Given the description of an element on the screen output the (x, y) to click on. 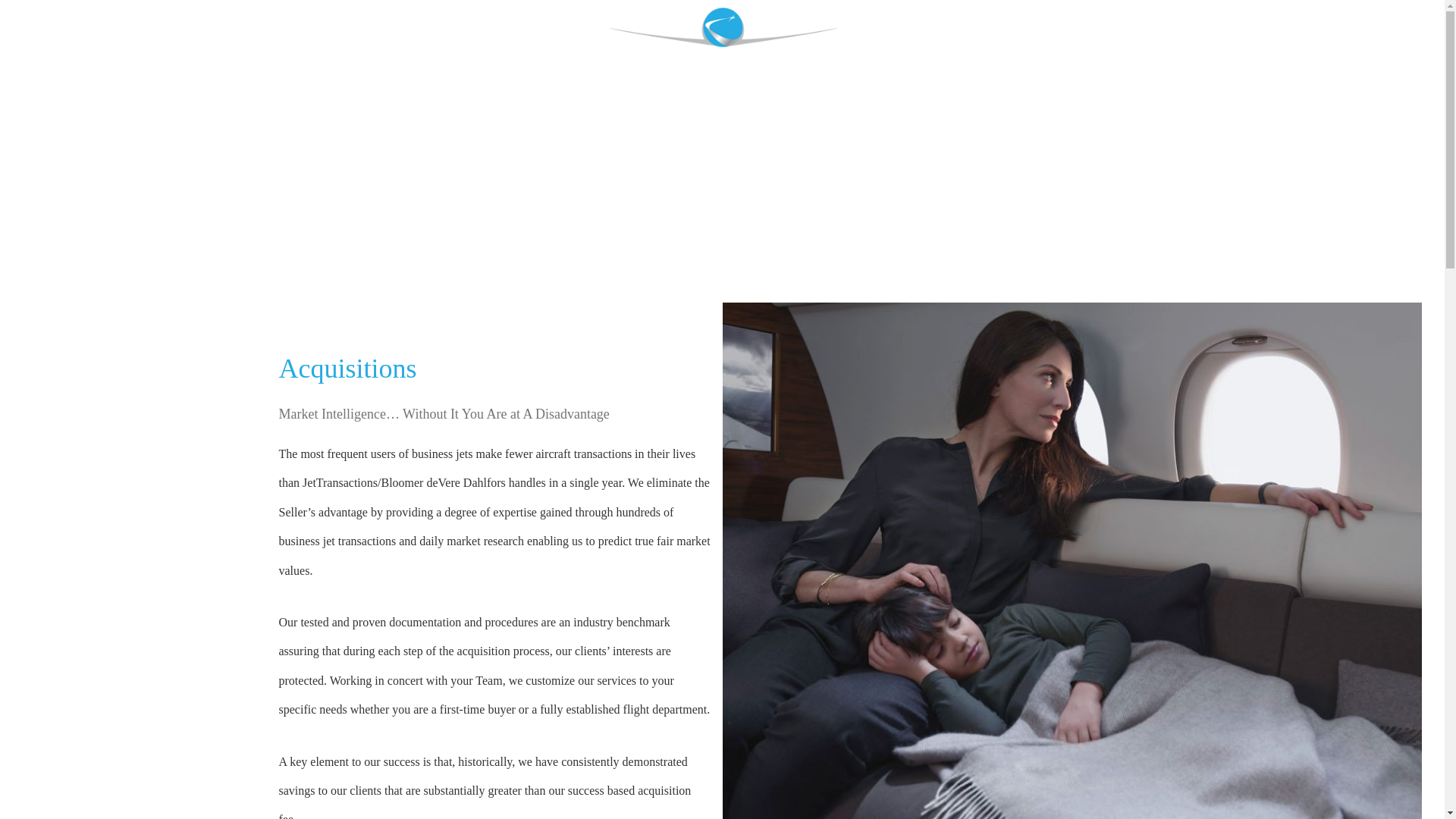
AIRCRAFT (1034, 54)
JetTransactions (721, 47)
CONTACT US (1131, 54)
WHO WE ARE (315, 54)
WHAT WE DO (420, 54)
